Given the description of an element on the screen output the (x, y) to click on. 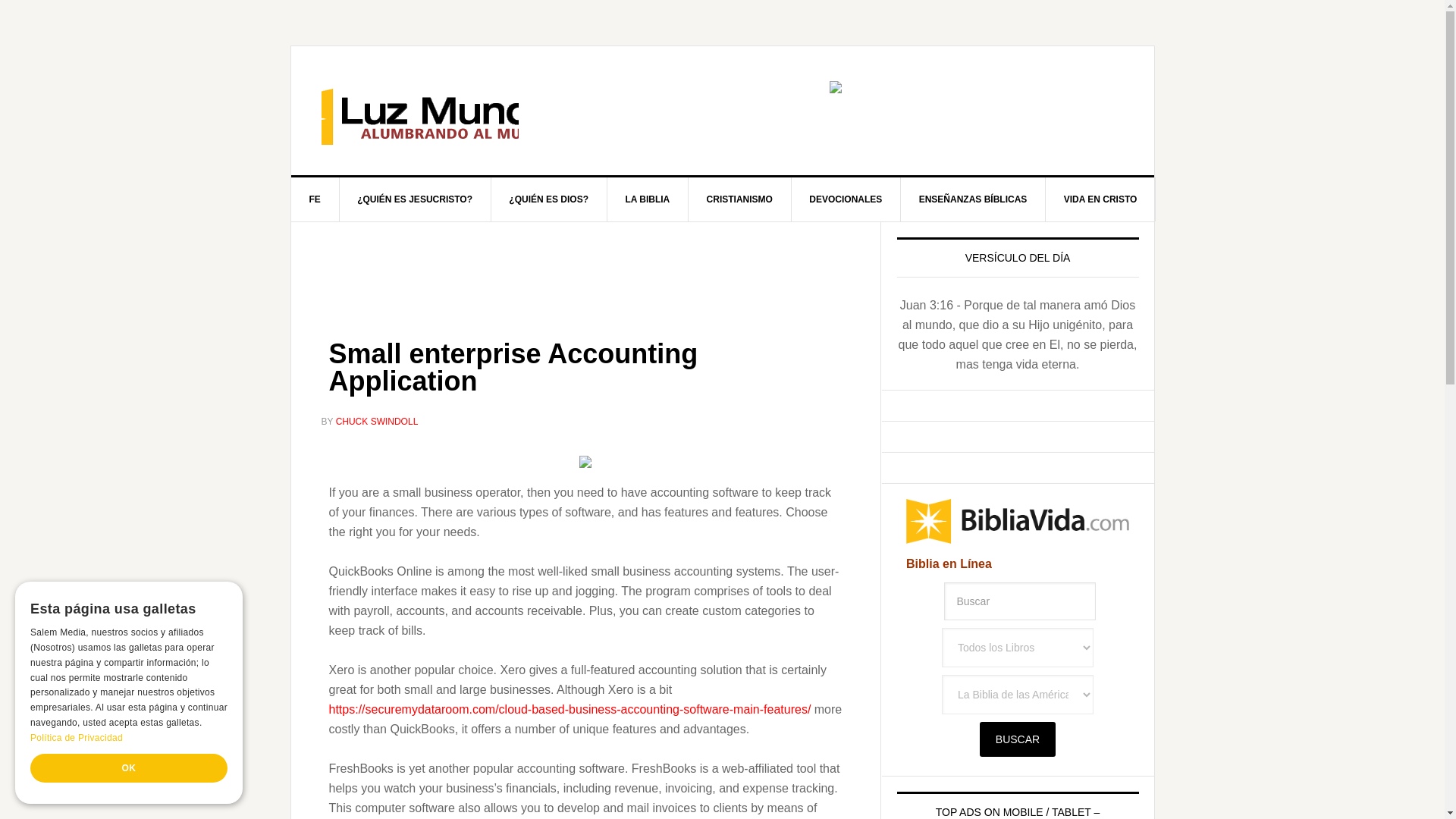
LUZ MUNDIAL (419, 110)
Buscar (1017, 738)
LA BIBLIA (647, 199)
CRISTIANISMO (740, 199)
FE (315, 199)
Buscar (1018, 600)
